Given the description of an element on the screen output the (x, y) to click on. 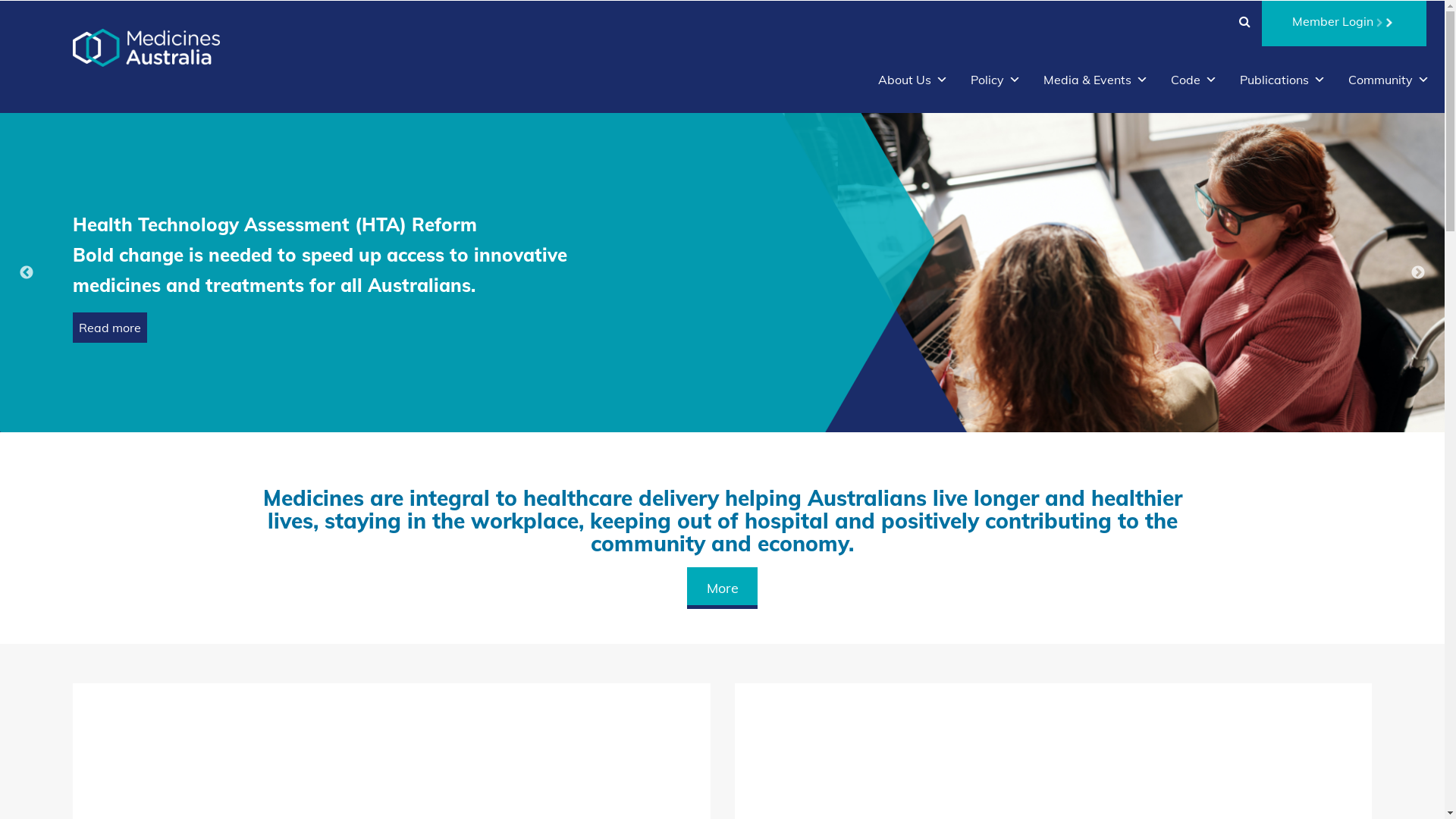
Code Element type: text (1193, 79)
Read more Element type: text (109, 327)
Policy Element type: text (995, 79)
Community Element type: text (1388, 79)
More Element type: text (722, 587)
Previous Element type: text (26, 272)
Member Login Element type: text (1343, 23)
Media & Events Element type: text (1095, 79)
About Us Element type: text (912, 79)
Next Element type: text (1417, 272)
Publications Element type: text (1282, 79)
